Given the description of an element on the screen output the (x, y) to click on. 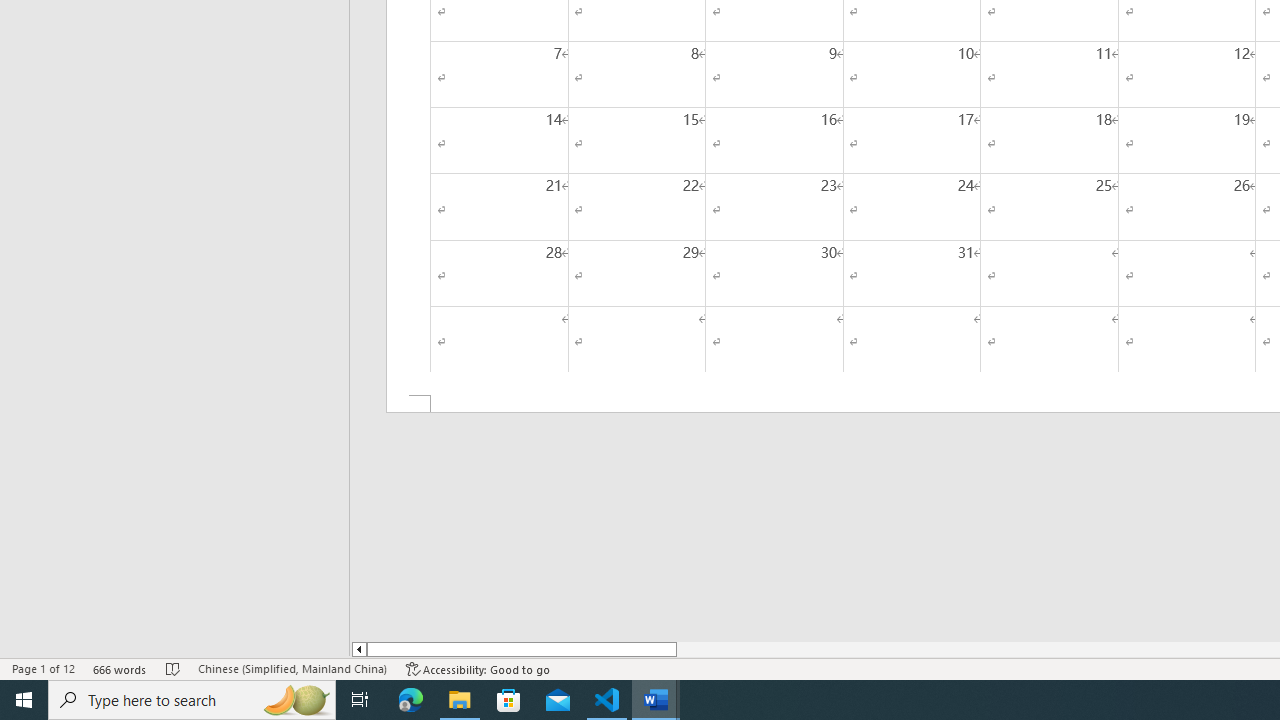
Page Number Page 1 of 12 (43, 668)
Accessibility Checker Accessibility: Good to go (478, 668)
Spelling and Grammar Check No Errors (173, 668)
Word Count 666 words (119, 668)
Column left (358, 649)
Language Chinese (Simplified, Mainland China) (292, 668)
